Given the description of an element on the screen output the (x, y) to click on. 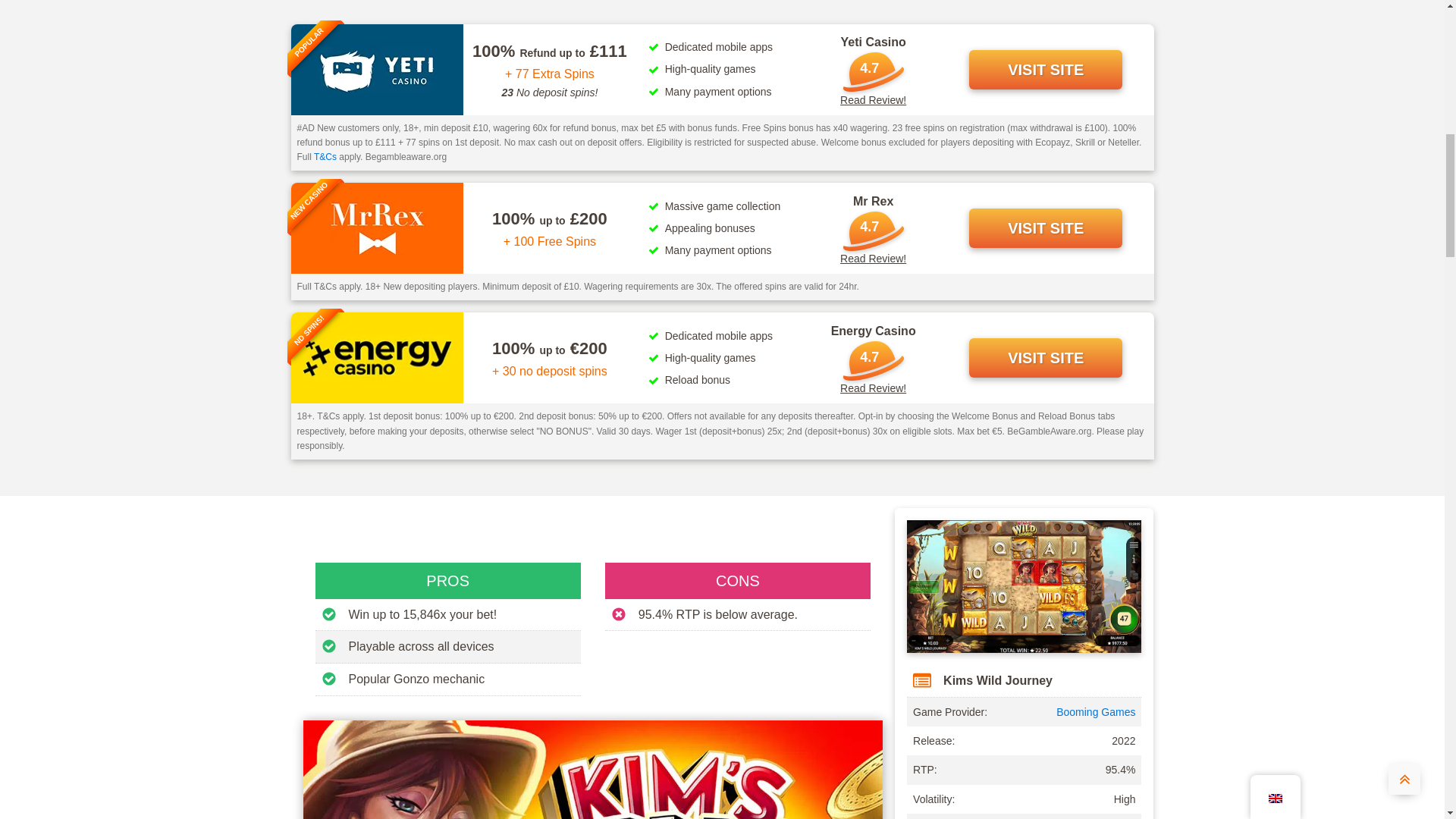
VISIT SITE (1045, 357)
Mr Rex (873, 201)
Read Review! (872, 99)
Energy Casino (873, 331)
VISIT SITE (1045, 228)
Yeti Casino (873, 42)
Read Review! (872, 388)
Read Review! (872, 258)
VISIT SITE (1045, 69)
